Given the description of an element on the screen output the (x, y) to click on. 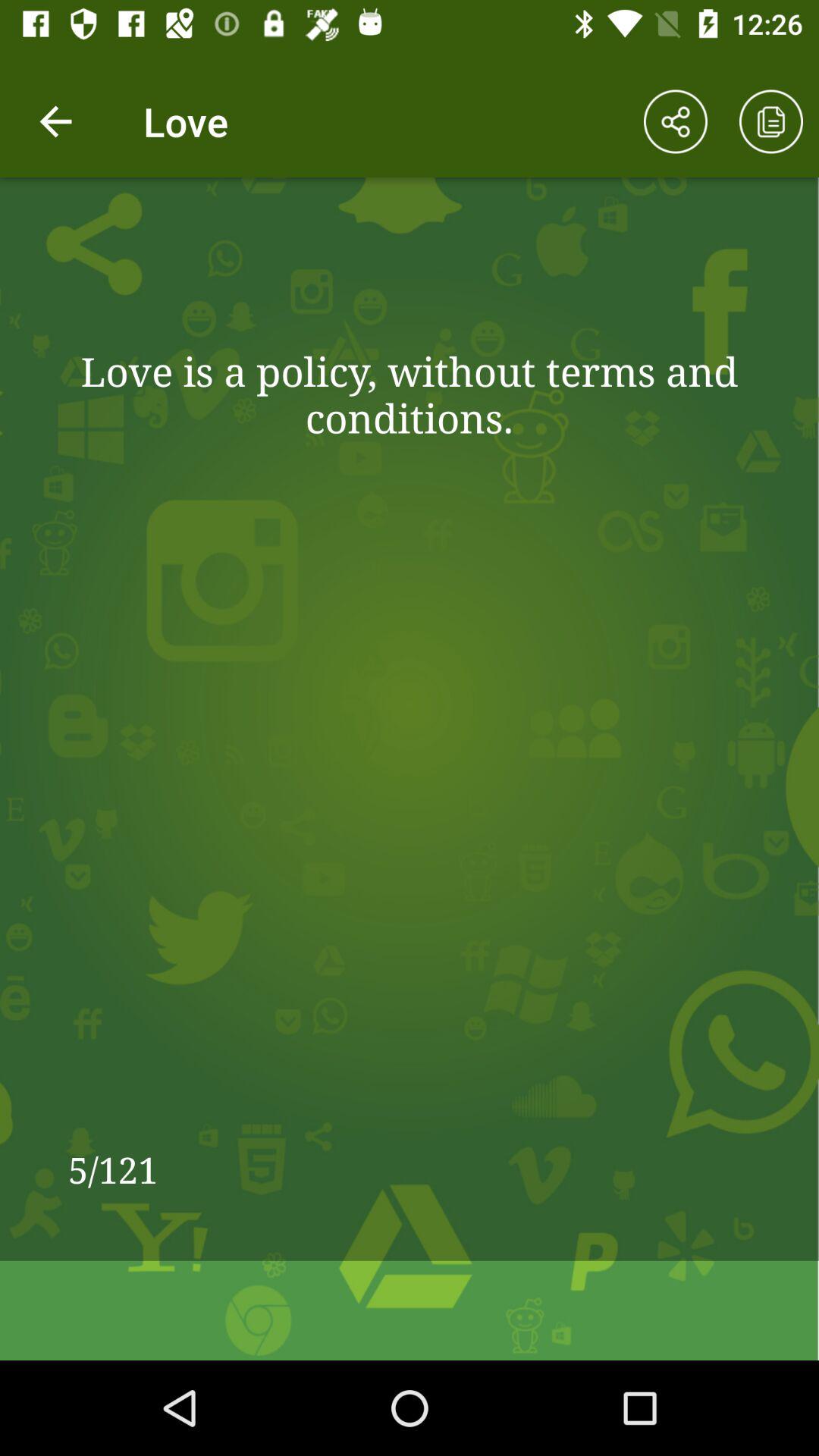
advances to the next page (771, 121)
